Given the description of an element on the screen output the (x, y) to click on. 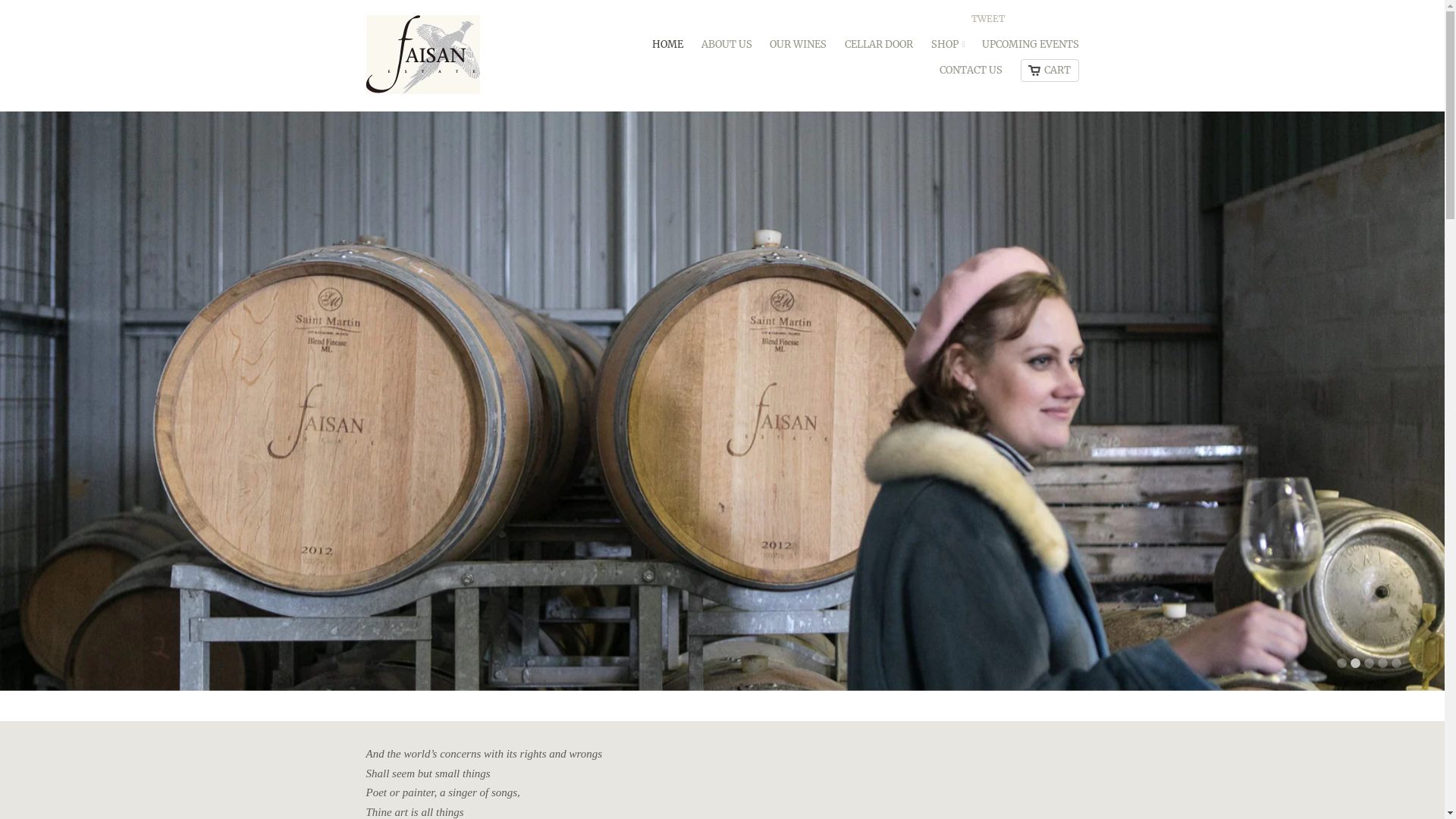
TWEET Element type: text (987, 22)
1 Element type: text (1341, 663)
4 Element type: text (1382, 663)
5 Element type: text (1396, 663)
Faisan Estate Wines Element type: hover (479, 55)
CONTACT US Element type: text (970, 73)
ABOUT US Element type: text (726, 48)
3 Element type: text (1369, 663)
2 Element type: text (1355, 663)
UPCOMING EVENTS Element type: text (1029, 48)
OUR WINES Element type: text (797, 48)
CELLAR DOOR Element type: text (878, 48)
CART Element type: text (1049, 70)
HOME Element type: text (667, 48)
